Given the description of an element on the screen output the (x, y) to click on. 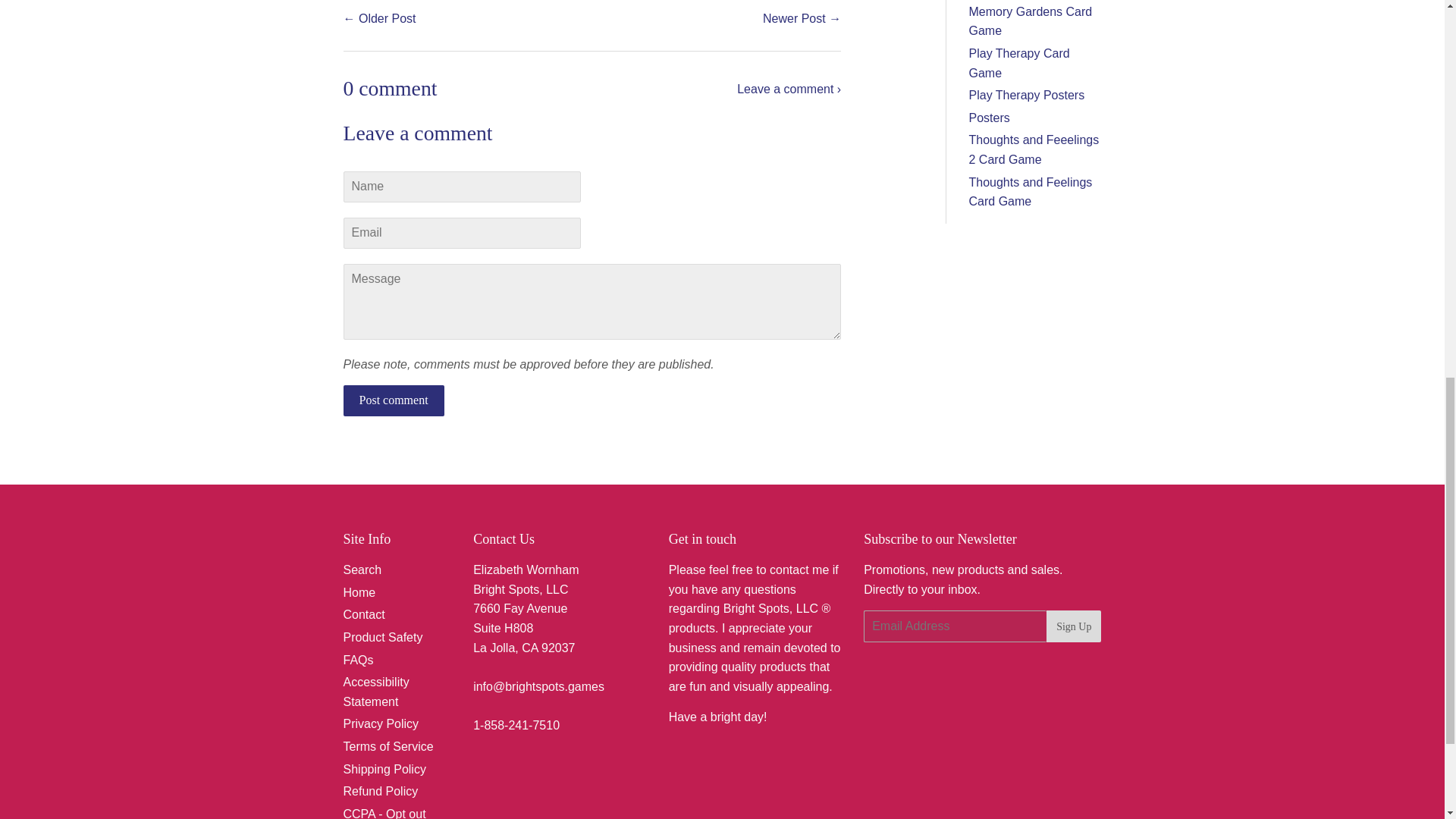
Show articles tagged Play Therapy Card Game (1019, 62)
Post comment (393, 400)
Show articles tagged Play Therapy Posters (1026, 94)
Show articles tagged Thoughts and Feelings Card Game (1031, 192)
Show articles tagged Posters (989, 117)
Show articles tagged Memory Gardens Card Game (1031, 20)
Show articles tagged Thoughts and Feeelings 2 Card Game (1034, 149)
